Given the description of an element on the screen output the (x, y) to click on. 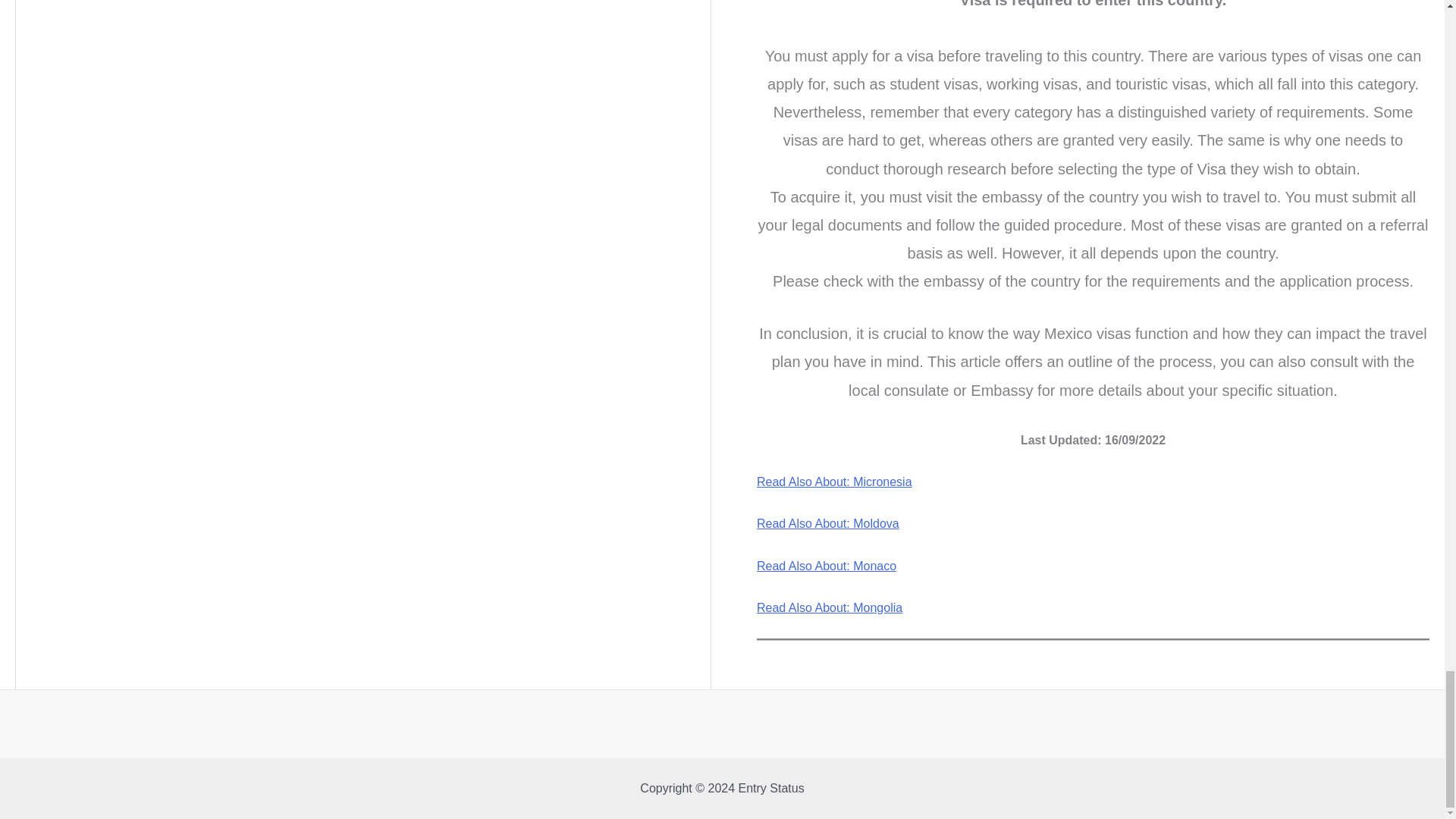
Read Also About: Micronesia (834, 481)
Read Also About: Moldova (828, 522)
Read Also About: Mongolia (829, 607)
Read Also About: Monaco (826, 565)
